Given the description of an element on the screen output the (x, y) to click on. 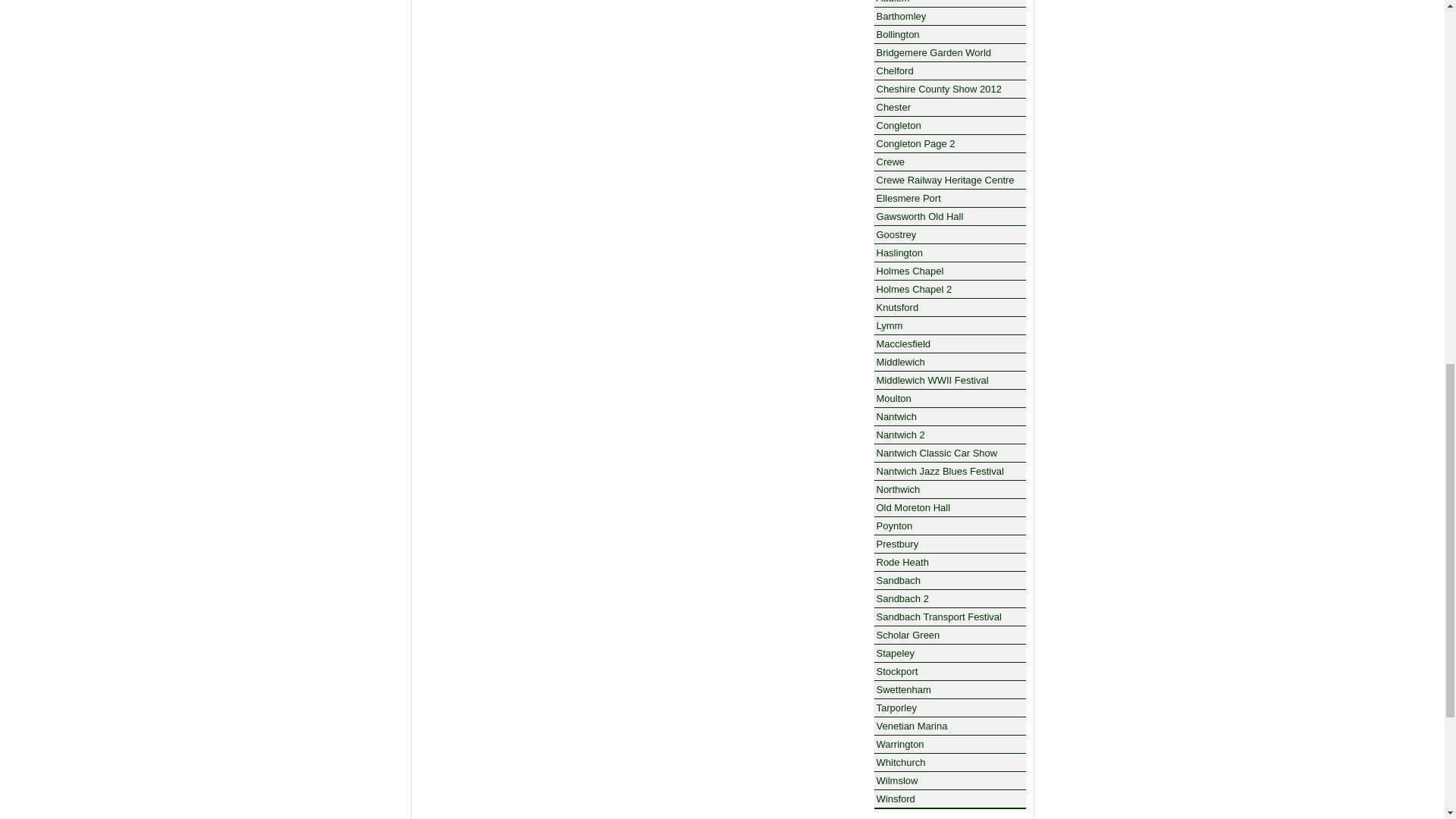
Audlem (949, 3)
Bollington (949, 34)
Cheshire County Show 2012 (949, 89)
Bridgemere Garden World (949, 53)
Barthomley (949, 16)
Chelford (949, 71)
